Given the description of an element on the screen output the (x, y) to click on. 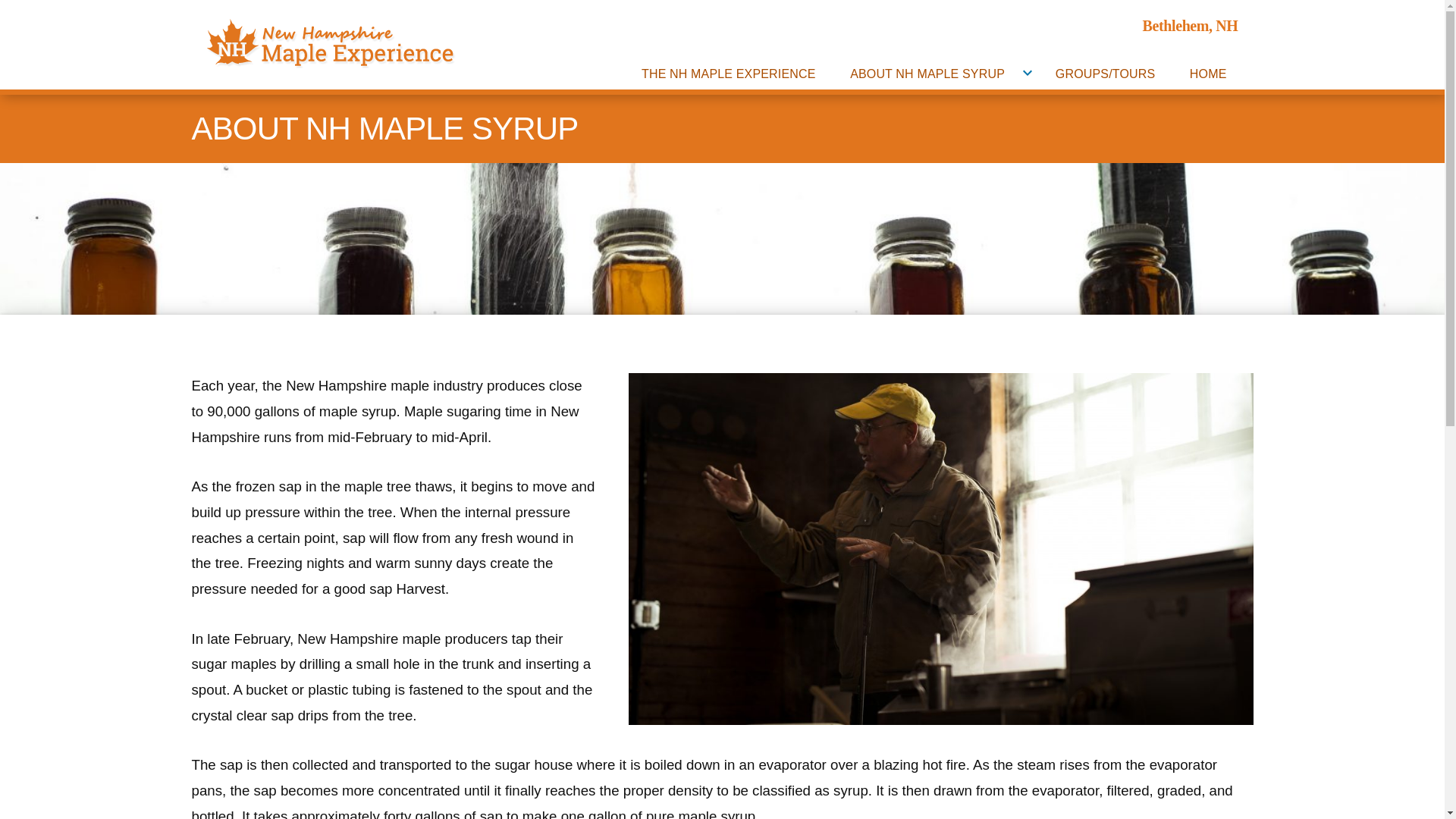
HOME (1208, 73)
ABOUT NH MAPLE SYRUP (927, 73)
THE NH MAPLE EXPERIENCE (728, 73)
